Given the description of an element on the screen output the (x, y) to click on. 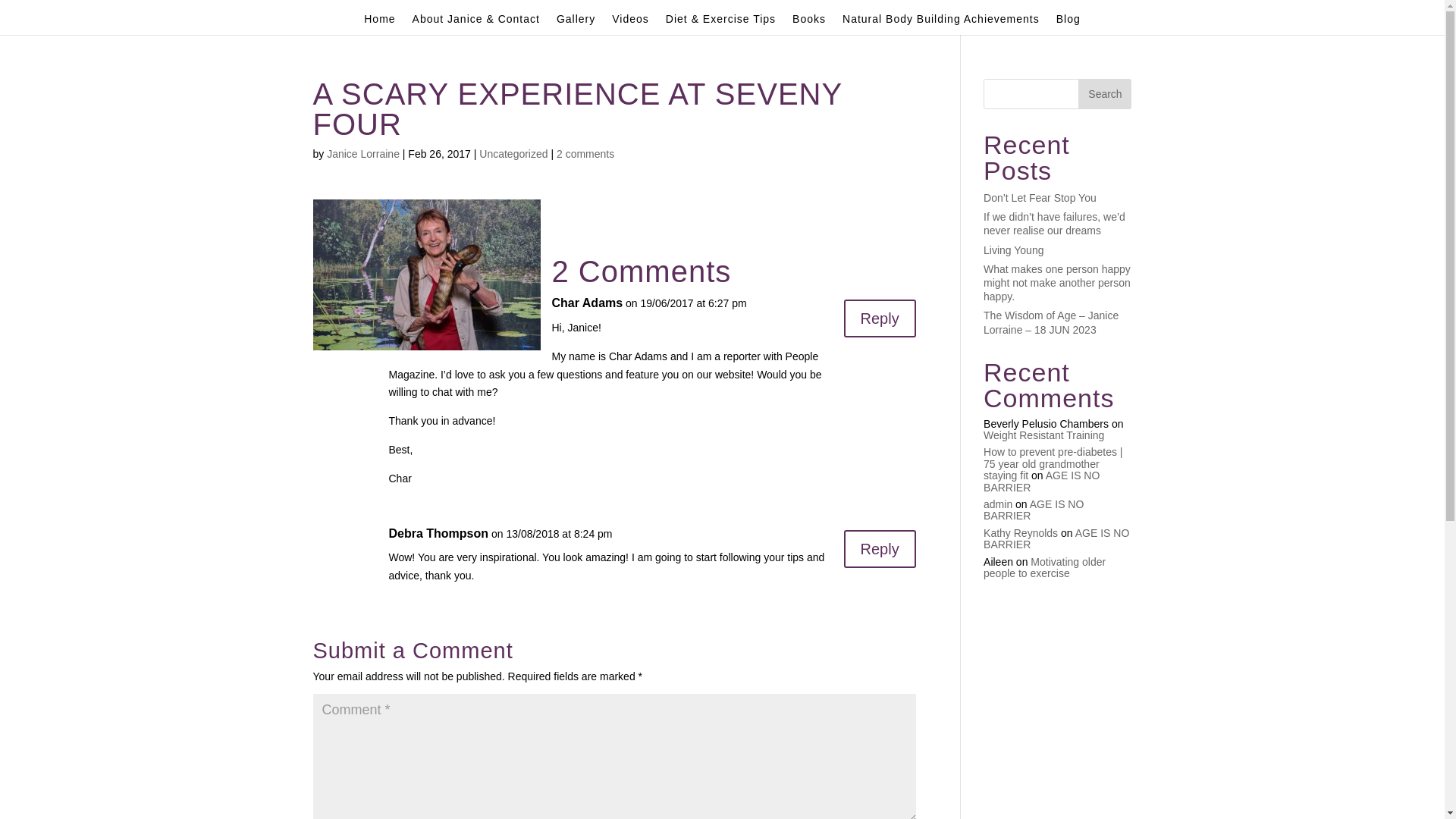
Motivating older people to exercise Element type: text (1044, 567)
About Janice & Contact Element type: text (475, 23)
admin Element type: text (997, 504)
Gallery Element type: text (575, 23)
AGE IS NO BARRIER Element type: text (1056, 538)
Kathy Reynolds Element type: text (1020, 533)
Uncategorized Element type: text (513, 153)
AGE IS NO BARRIER Element type: text (1033, 509)
2 comments Element type: text (585, 153)
Search Element type: text (1104, 93)
Books Element type: text (808, 23)
Weight Resistant Training Element type: text (1043, 435)
Reply Element type: text (880, 548)
Blog Element type: text (1068, 23)
Videos Element type: text (630, 23)
Home Element type: text (379, 23)
Janice Lorraine Element type: text (362, 153)
Reply Element type: text (880, 318)
Living Young Element type: text (1013, 250)
AGE IS NO BARRIER Element type: text (1041, 480)
Diet & Exercise Tips Element type: text (720, 23)
Natural Body Building Achievements Element type: text (940, 23)
